Given the description of an element on the screen output the (x, y) to click on. 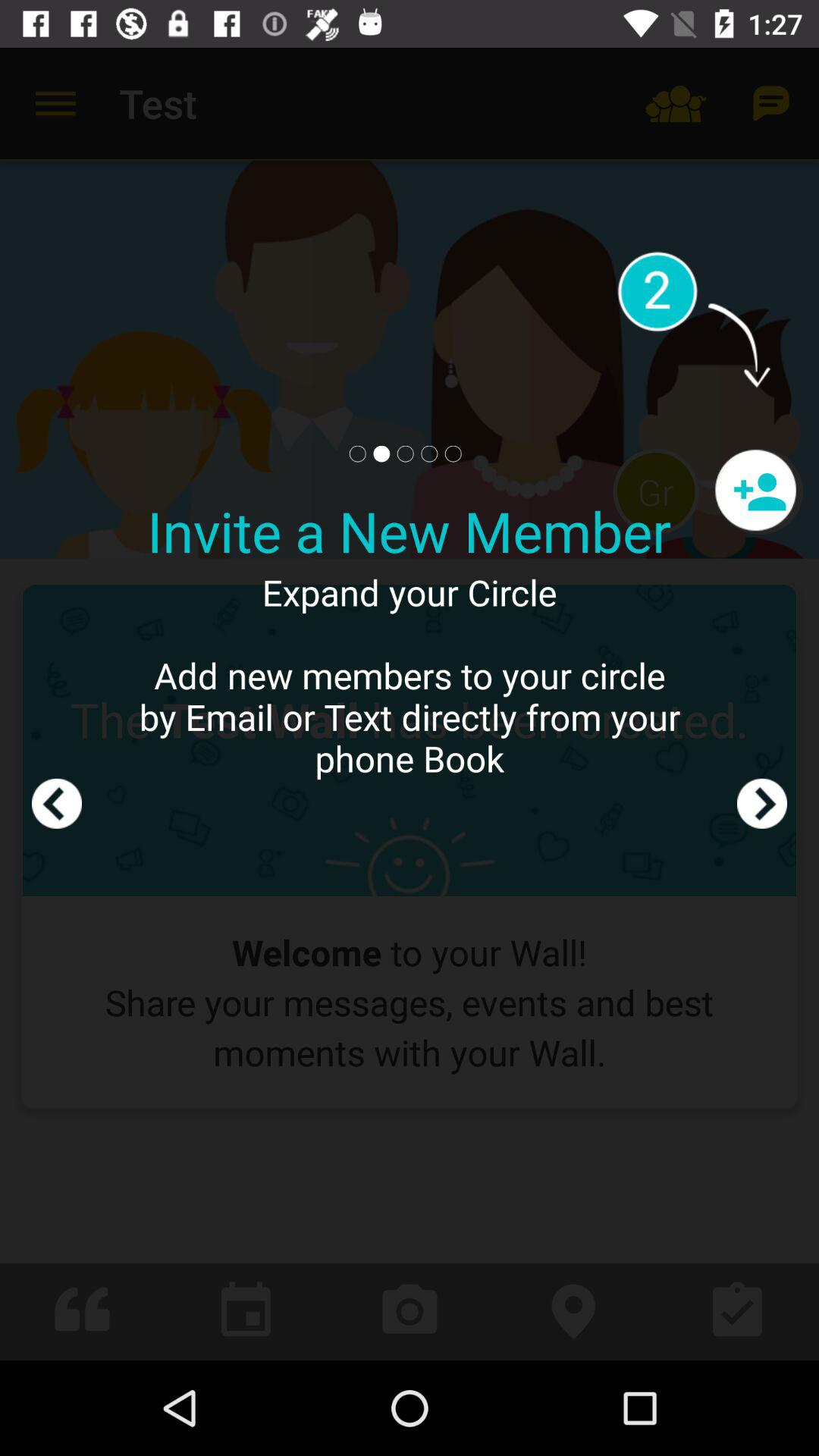
tap the item to the left of the expand your circle icon (56, 703)
